Given the description of an element on the screen output the (x, y) to click on. 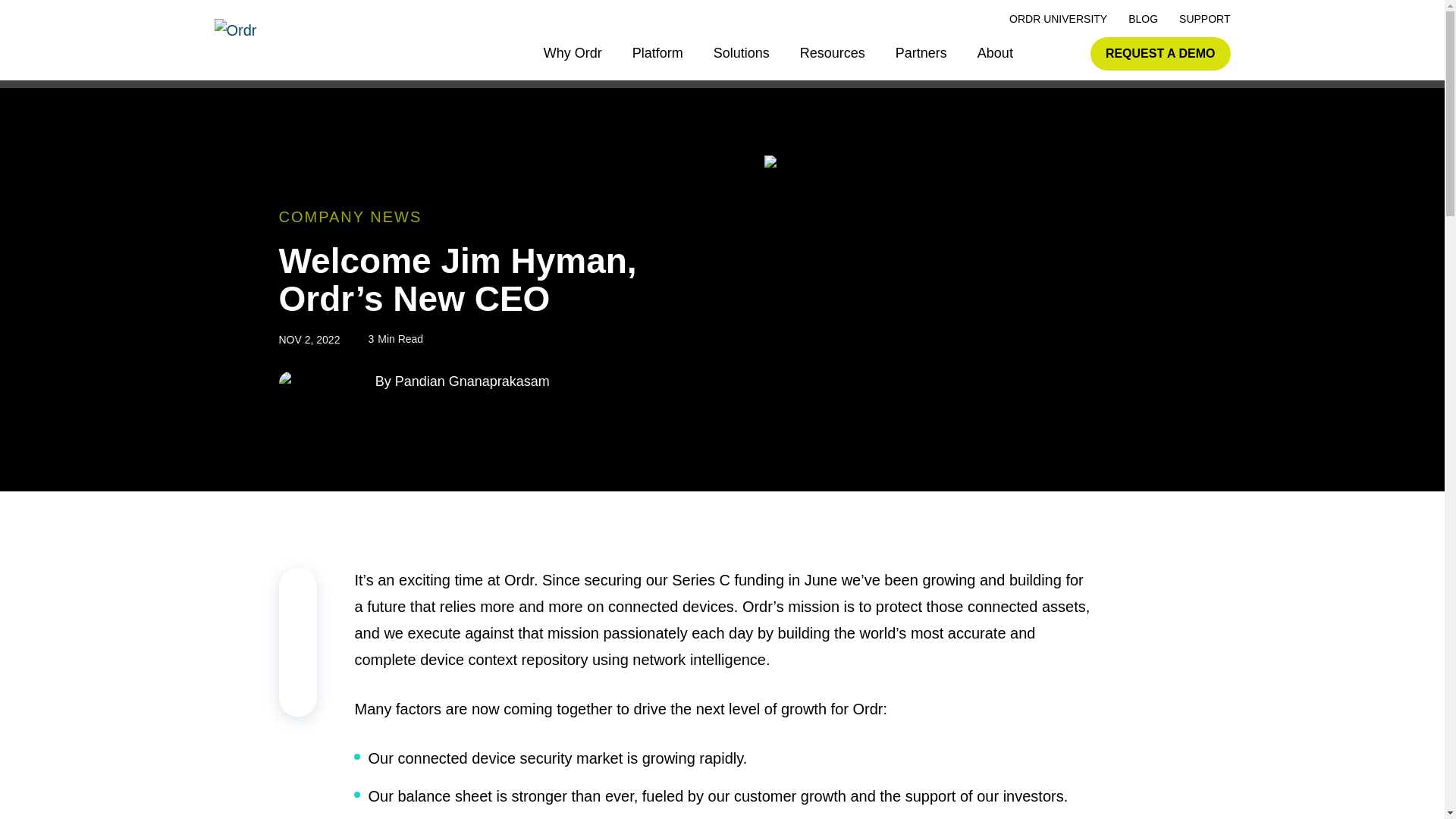
Solutions (741, 53)
Platform (657, 53)
X (298, 660)
hyman-1 (861, 166)
Ordr (272, 41)
Copy Link (298, 586)
Linkedin (298, 623)
SUPPORT (1204, 19)
Why Ordr (572, 53)
ORDR UNIVERSITY (1057, 19)
BLOG (1142, 19)
Facebook (298, 697)
Resources (832, 53)
